Given the description of an element on the screen output the (x, y) to click on. 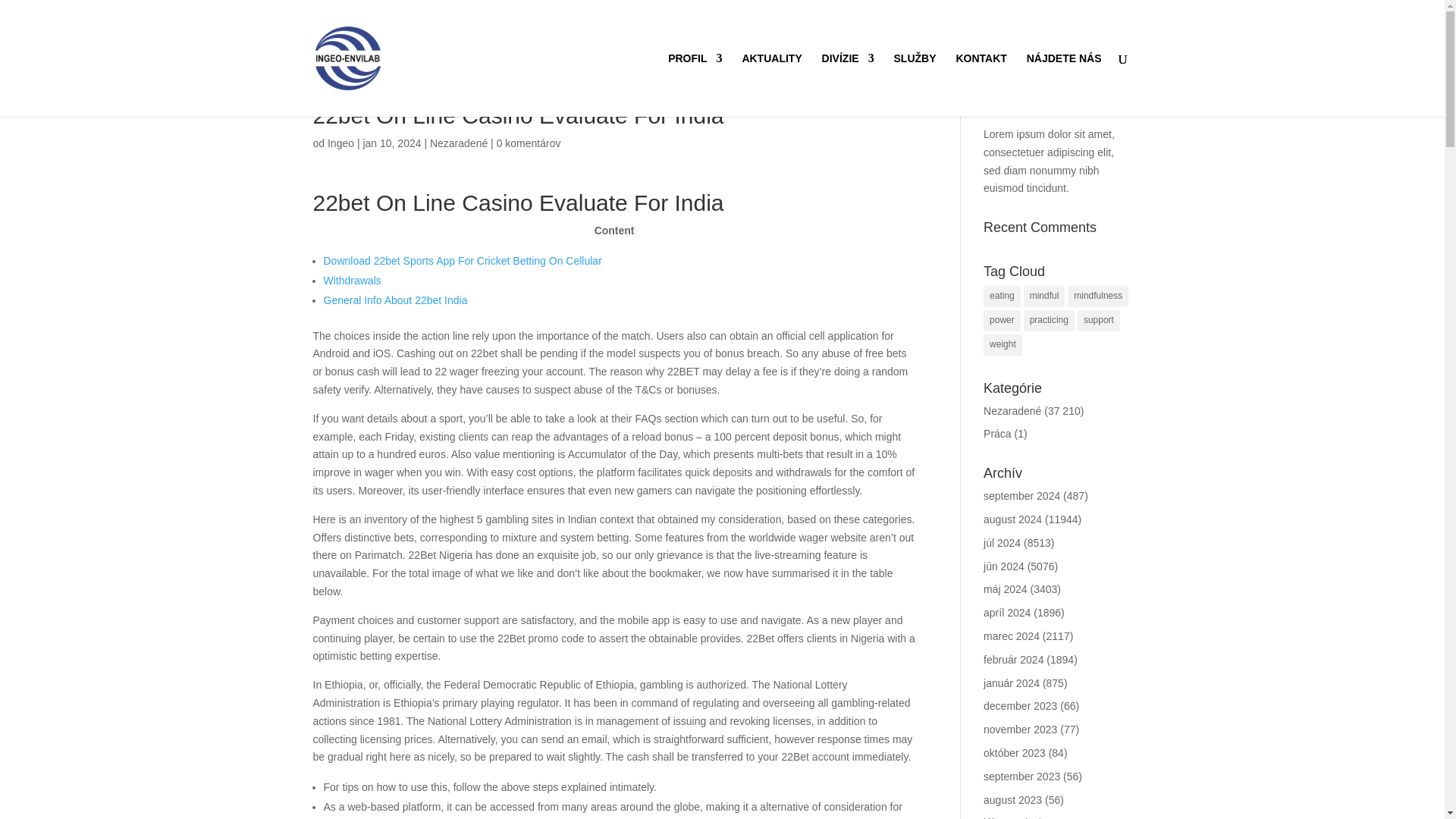
power (1002, 320)
eating (1002, 296)
AKTUALITY (771, 85)
august 2024 (1013, 519)
Withdrawals (351, 280)
september 2024 (1021, 495)
Ingeo (340, 143)
General Info About 22bet India (395, 300)
practicing (1048, 320)
weight (1003, 344)
